Given the description of an element on the screen output the (x, y) to click on. 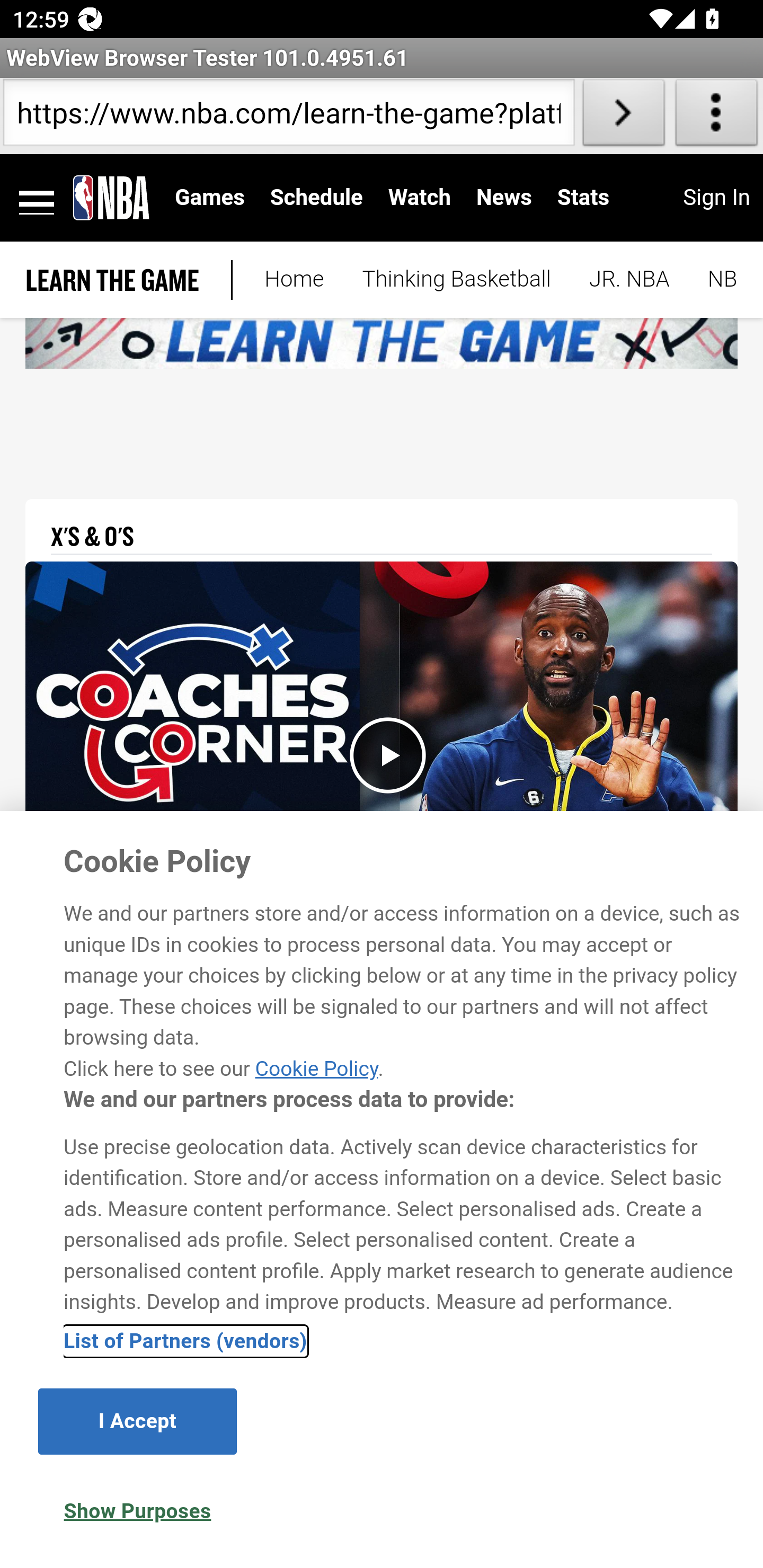
Load URL (623, 115)
About WebView (716, 115)
Games (209, 197)
Schedule (315, 197)
Watch (419, 197)
News (503, 197)
Stats (583, 197)
Sign In (716, 197)
NBA Logo NBA NBA Logo NBA (111, 197)
Global Navigation Toggle (36, 197)
Home (293, 279)
Thinking Basketball (455, 279)
JR. NBA (629, 279)
Cookie Policy (316, 1068)
List of Partners (vendors) (185, 1340)
I Accept (137, 1421)
Show Purposes (137, 1511)
